Given the description of an element on the screen output the (x, y) to click on. 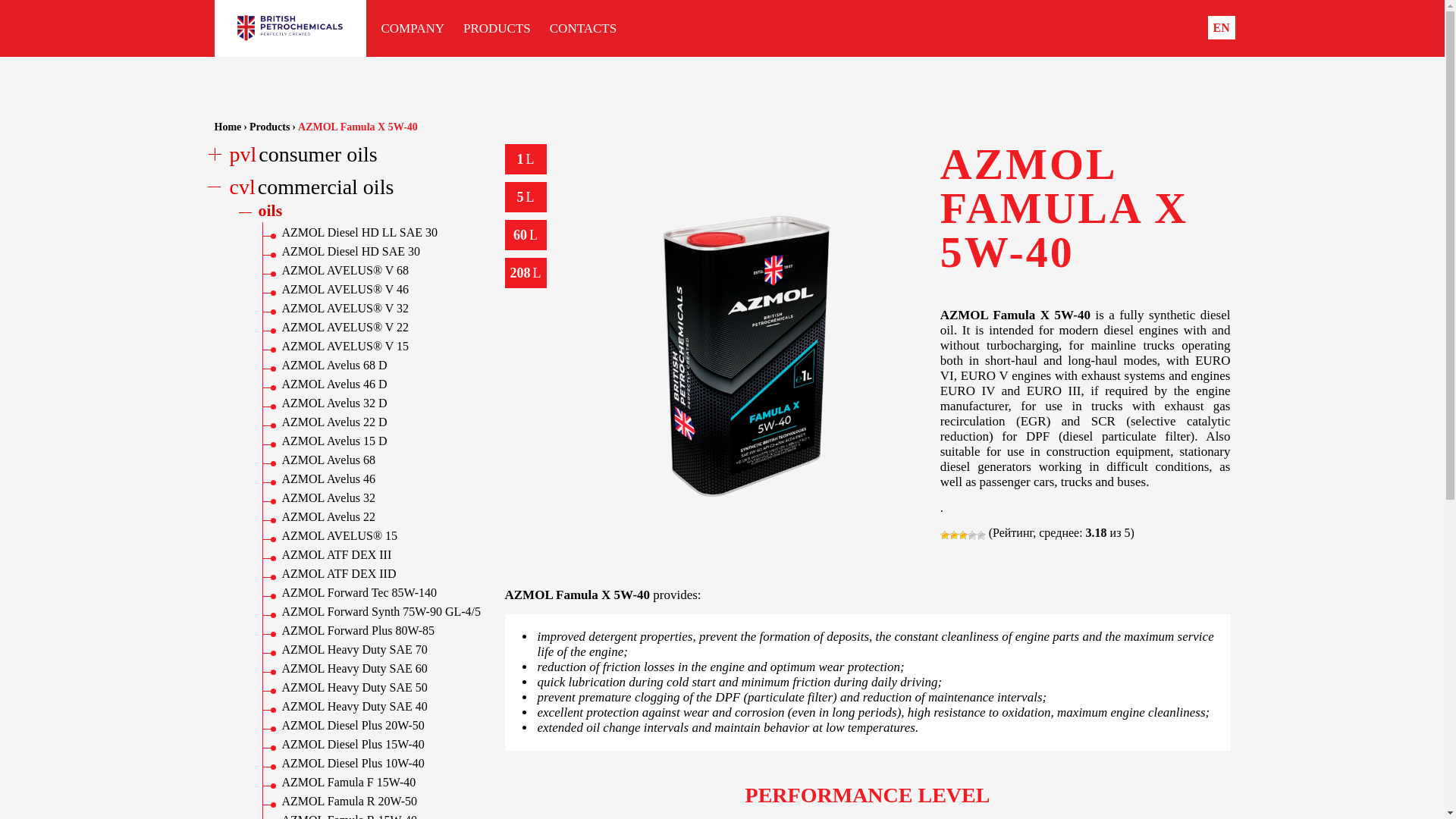
EN (1220, 26)
CONTACTS (582, 28)
Azmol British Petrochemicals (290, 28)
COMPANY (412, 28)
consumer oils (318, 154)
PRODUCTS (497, 28)
pvl (235, 154)
